Given the description of an element on the screen output the (x, y) to click on. 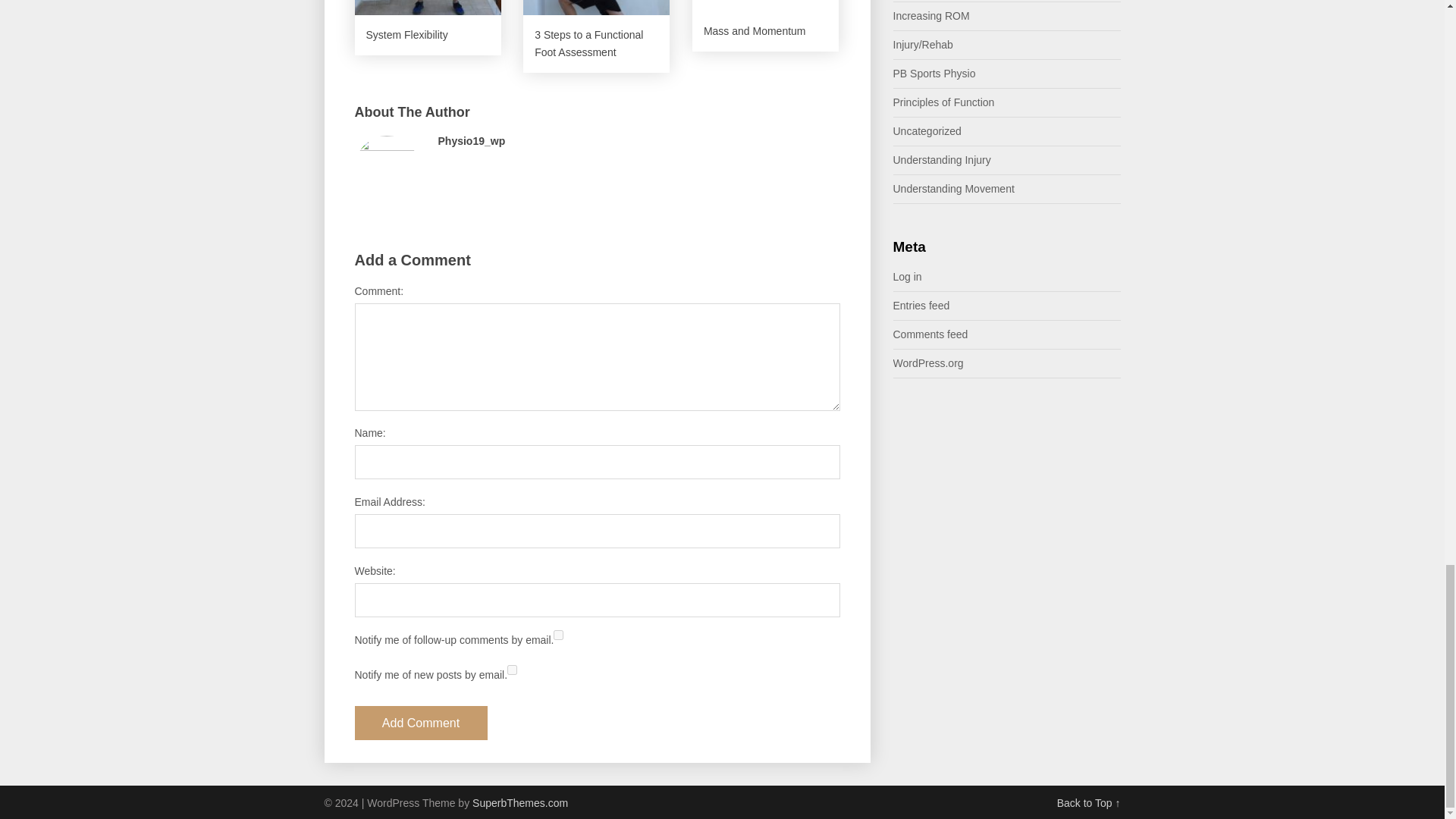
subscribe (511, 669)
Add Comment (421, 722)
System Flexibility (427, 28)
subscribe (558, 634)
Mass and Momentum (762, 25)
3 Steps to a Functional Foot Assessment (595, 36)
3 Steps to a Functional Foot Assessment (595, 36)
Add Comment (421, 722)
Mass and Momentum (762, 25)
System Flexibility (427, 28)
